Given the description of an element on the screen output the (x, y) to click on. 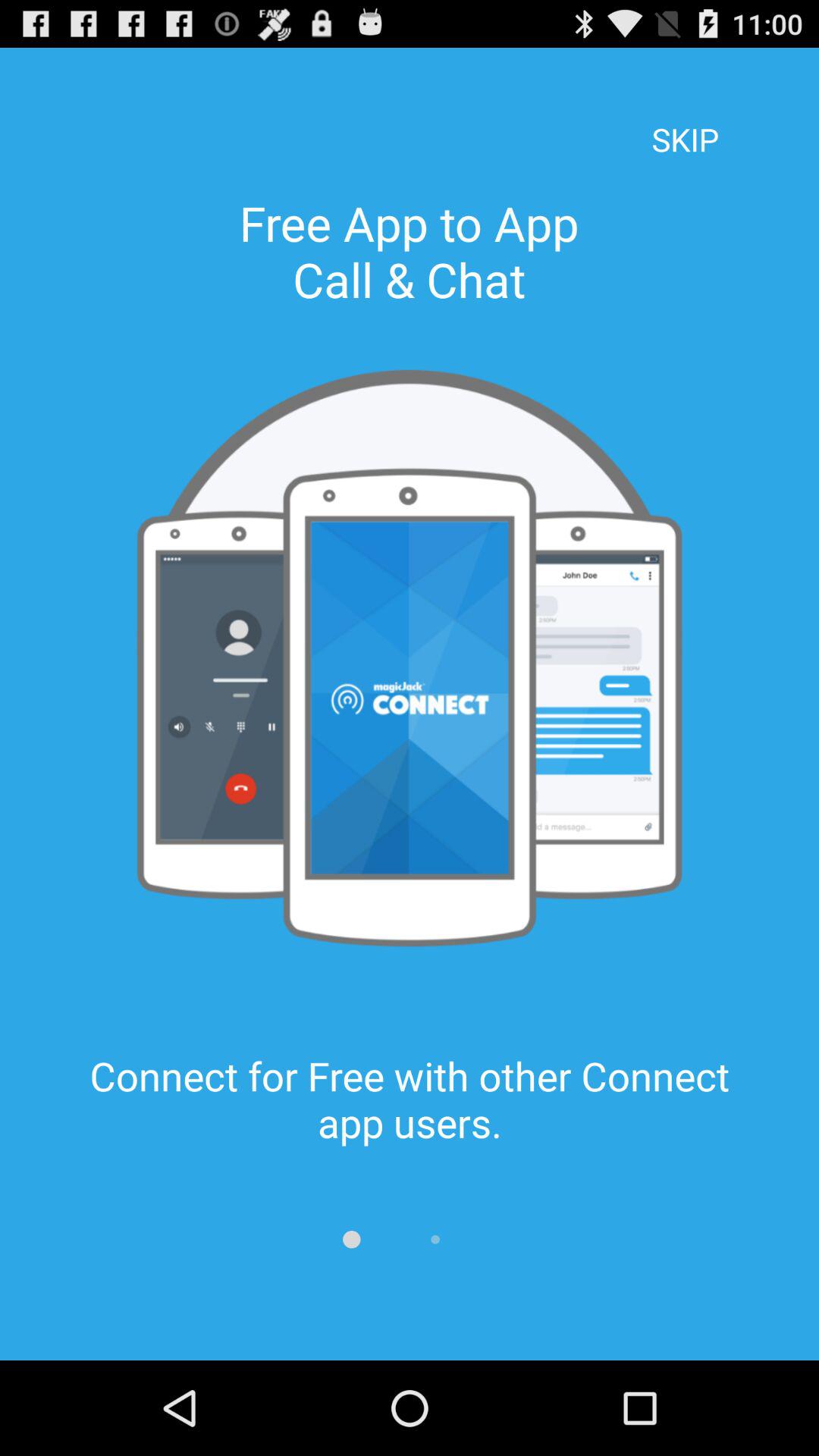
slide button to change pages (351, 1239)
